Given the description of an element on the screen output the (x, y) to click on. 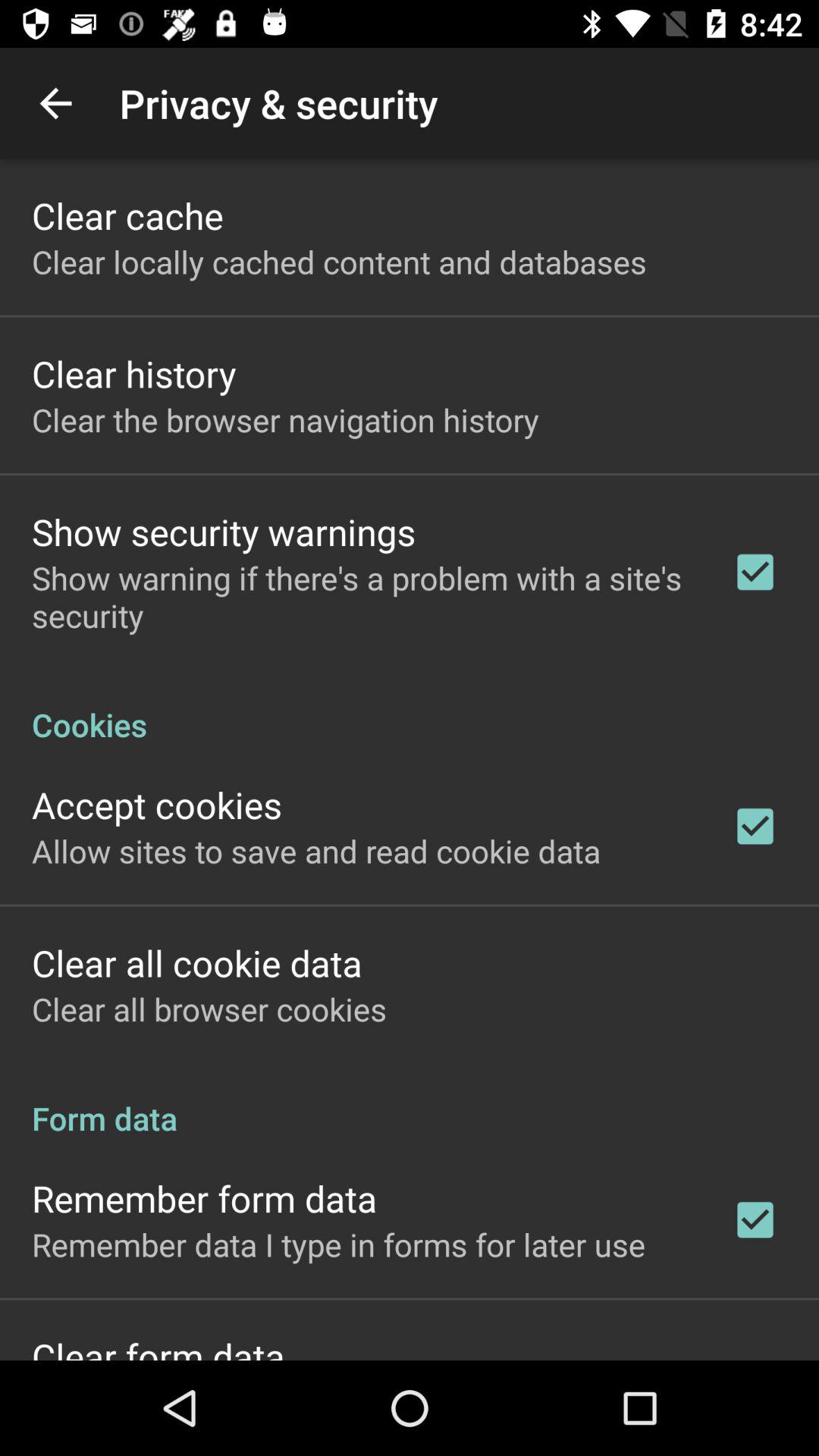
launch accept cookies (156, 804)
